Given the description of an element on the screen output the (x, y) to click on. 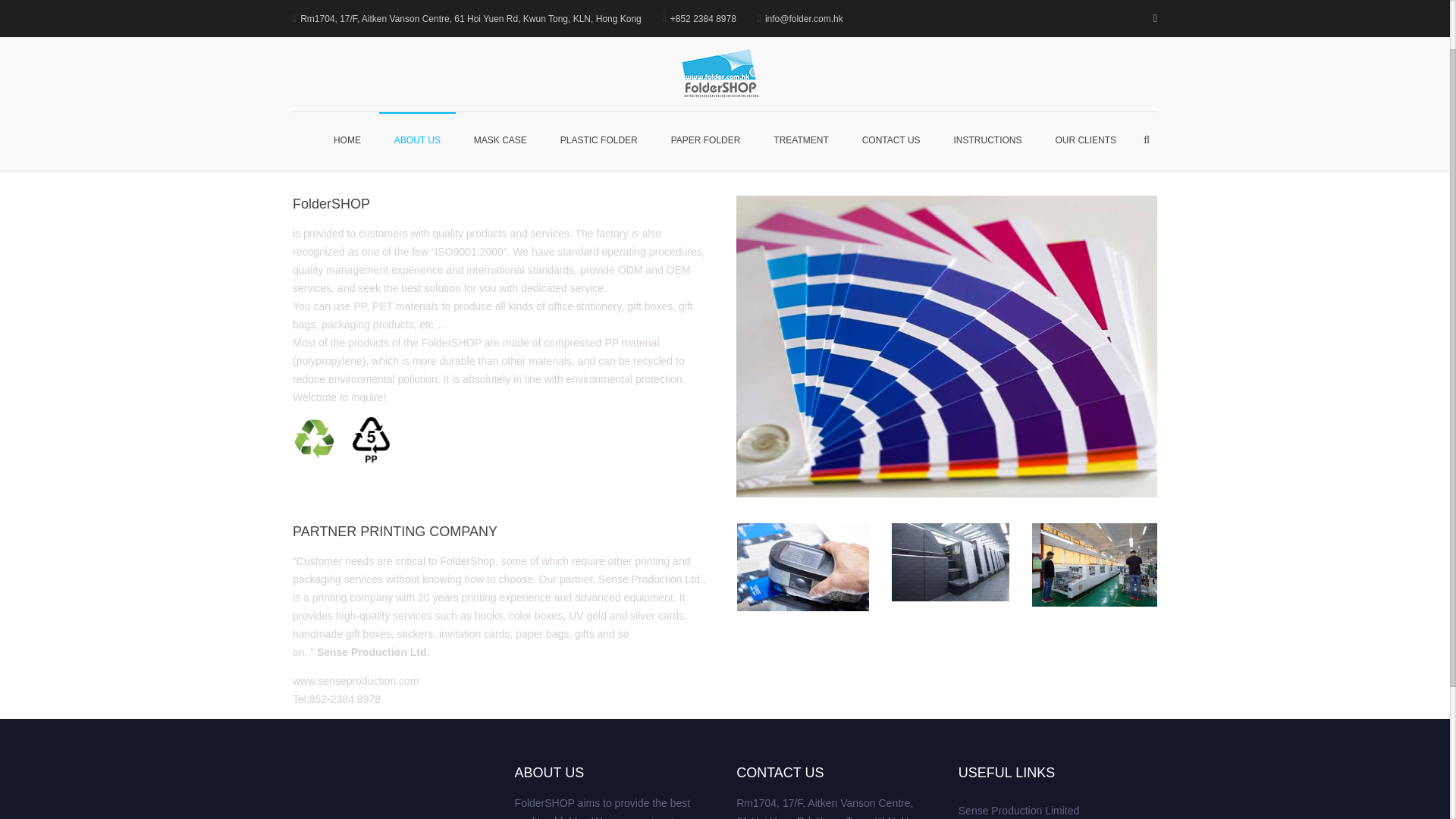
PLASTIC FOLDER (598, 77)
ABOUT US (416, 77)
INSTRUCTIONS (987, 77)
OUR CLIENTS (1085, 77)
MASK CASE (499, 77)
PAPER FOLDER (705, 77)
CONTACT US (891, 77)
Home (1080, 134)
TREATMENT (800, 77)
FolderSHOP (814, 19)
